Given the description of an element on the screen output the (x, y) to click on. 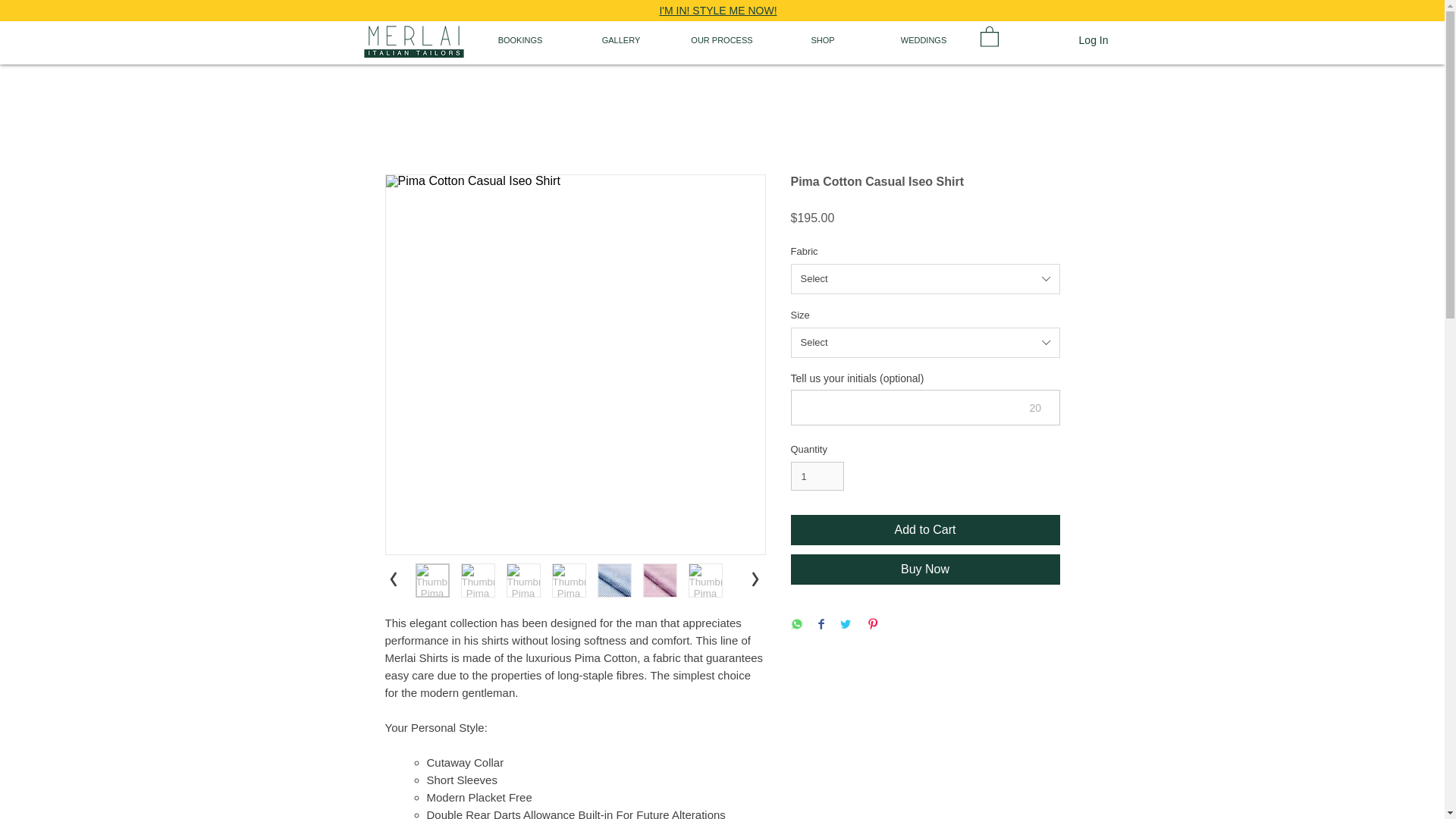
BOOKINGS (520, 39)
I'M IN! STYLE ME NOW! (717, 10)
Select (924, 278)
Buy Now (924, 569)
Log In (1093, 40)
Select (924, 342)
OUR PROCESS (722, 39)
WEDDINGS (923, 39)
1 (817, 475)
GALLERY (620, 39)
SHOP (821, 39)
Add to Cart (924, 530)
